Given the description of an element on the screen output the (x, y) to click on. 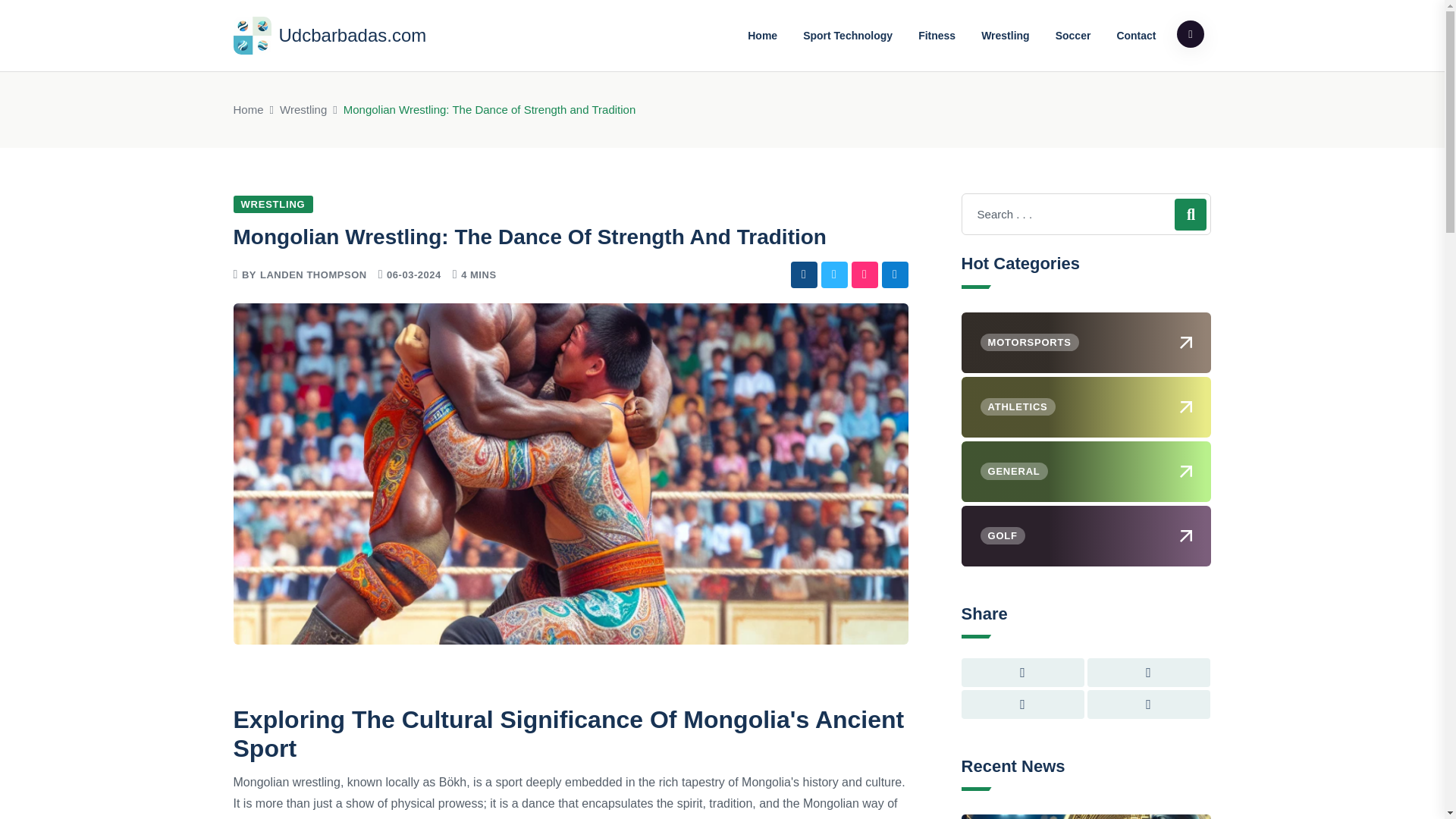
ATHLETICS (1085, 406)
Wrestling (1005, 35)
LANDEN THOMPSON (313, 274)
GENERAL (1085, 471)
Udcbarbadas.com (329, 35)
WRESTLING (272, 203)
Home (247, 109)
MOTORSPORTS (1085, 342)
Sport Technology (847, 35)
Wrestling (302, 109)
